Given the description of an element on the screen output the (x, y) to click on. 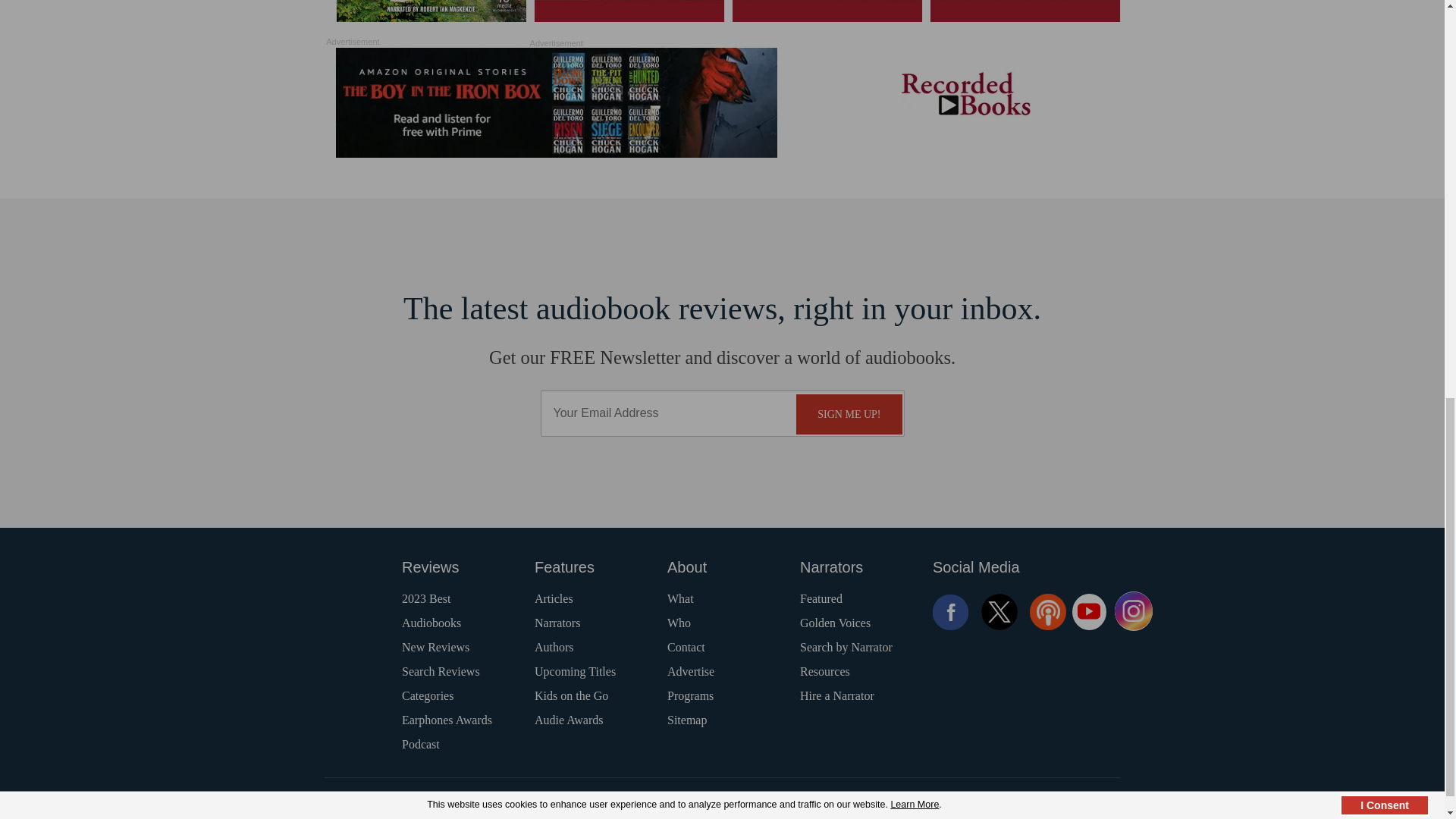
Facebook (951, 611)
YouTube (1088, 611)
Sign Me Up! (848, 413)
Podcast (1047, 611)
Instagram (1134, 611)
Twitter (999, 611)
